Given the description of an element on the screen output the (x, y) to click on. 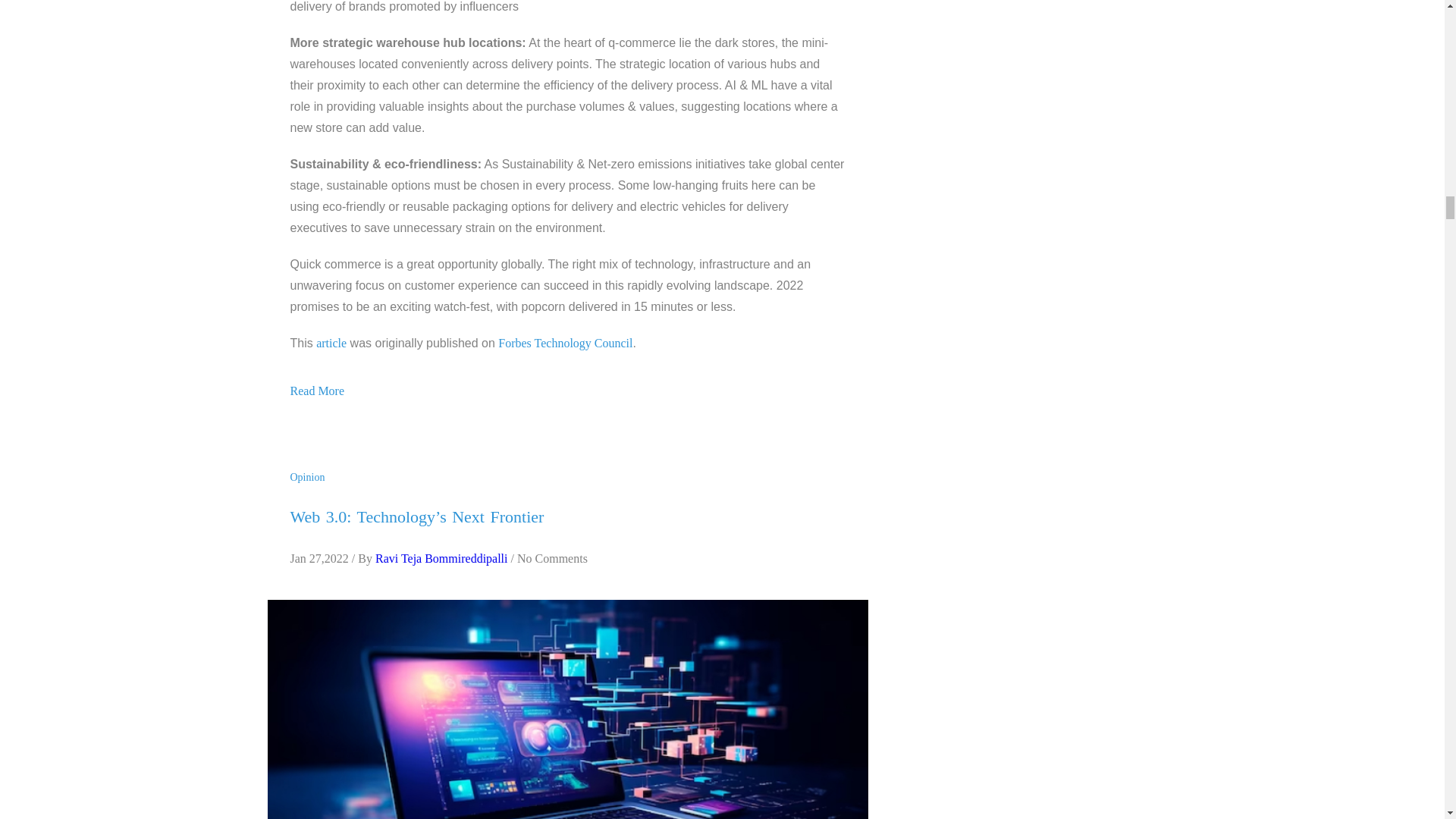
Posts by Ravi Teja Bommireddipalli (441, 558)
article (330, 342)
Forbes Technology Council (564, 342)
